Given the description of an element on the screen output the (x, y) to click on. 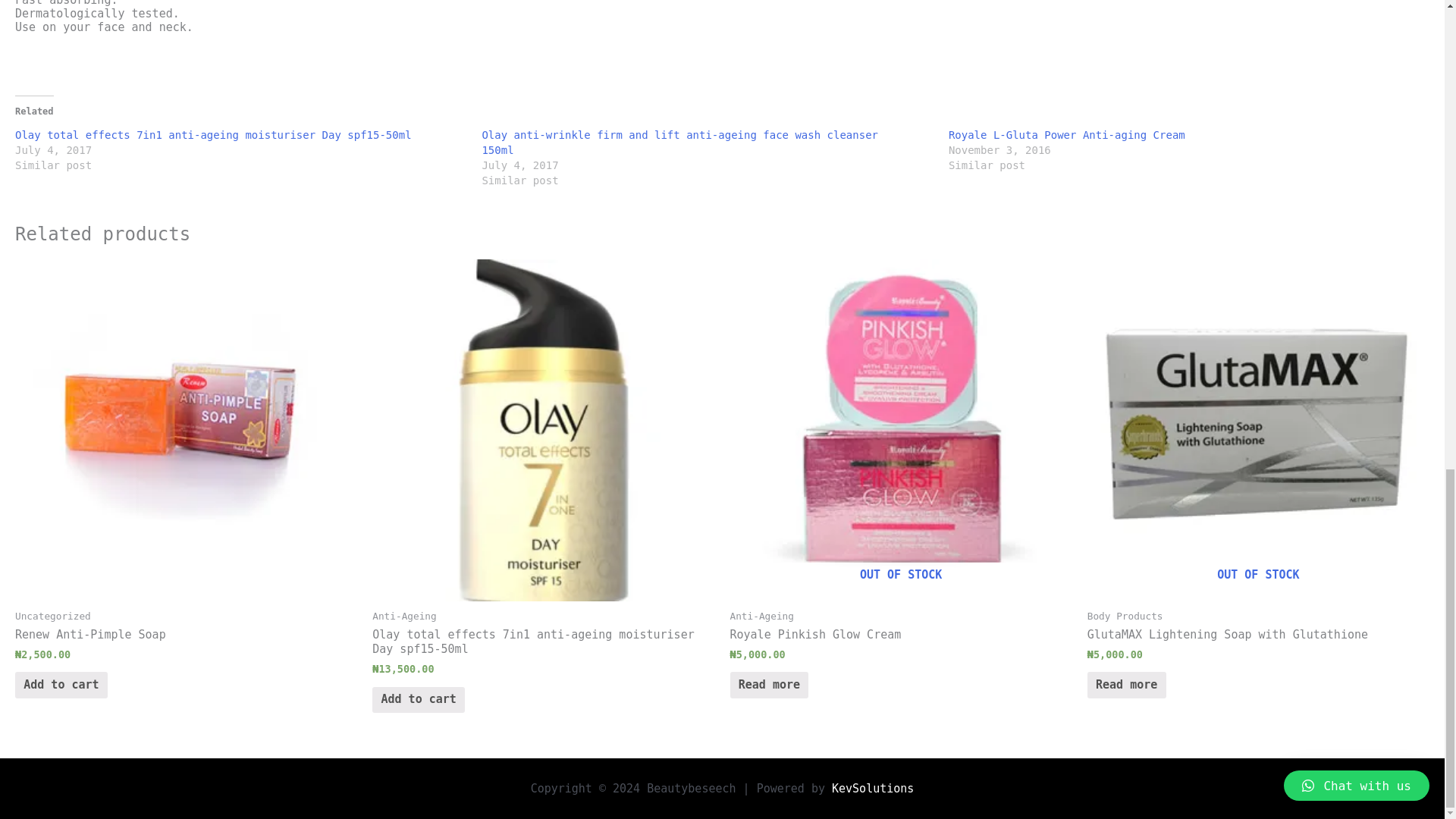
Royale L-Gluta Power Anti-aging Cream (1067, 134)
